Given the description of an element on the screen output the (x, y) to click on. 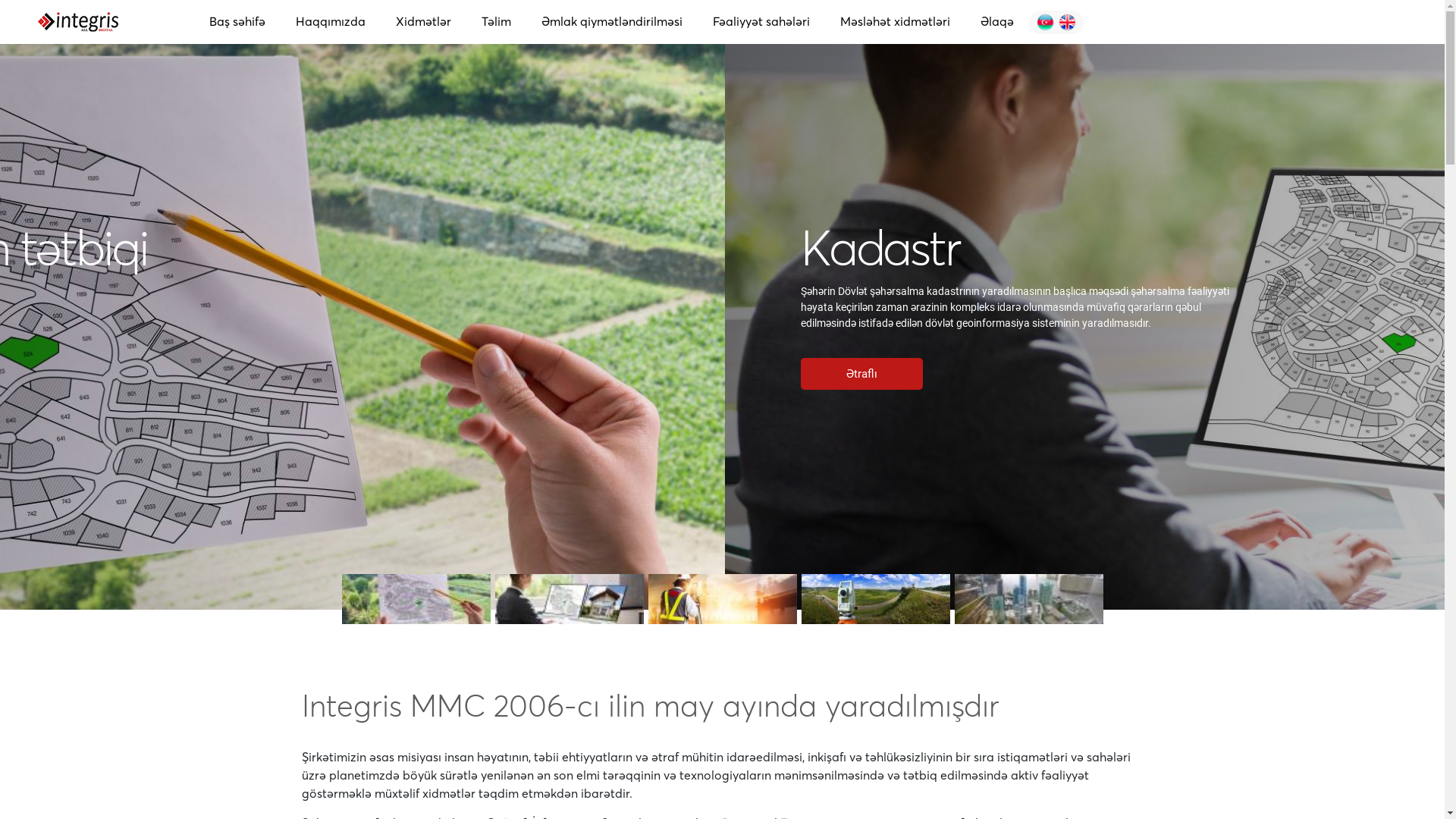
English Element type: text (1067, 22)
English Element type: text (1045, 22)
